Given the description of an element on the screen output the (x, y) to click on. 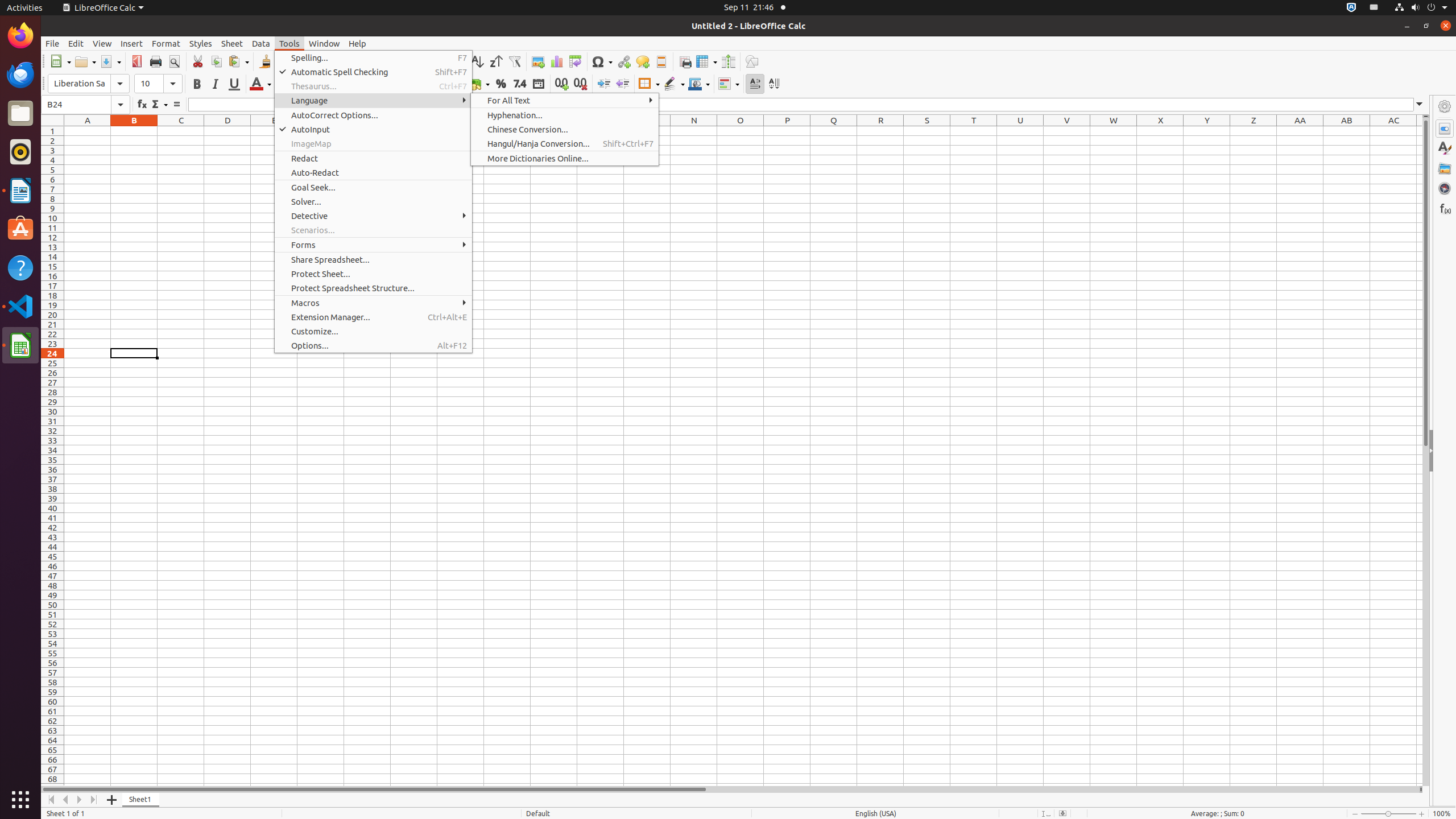
A1 Element type: table-cell (87, 130)
Cut Element type: push-button (197, 61)
Name Box Element type: text (75, 104)
Clone Element type: push-button (264, 61)
